Given the description of an element on the screen output the (x, y) to click on. 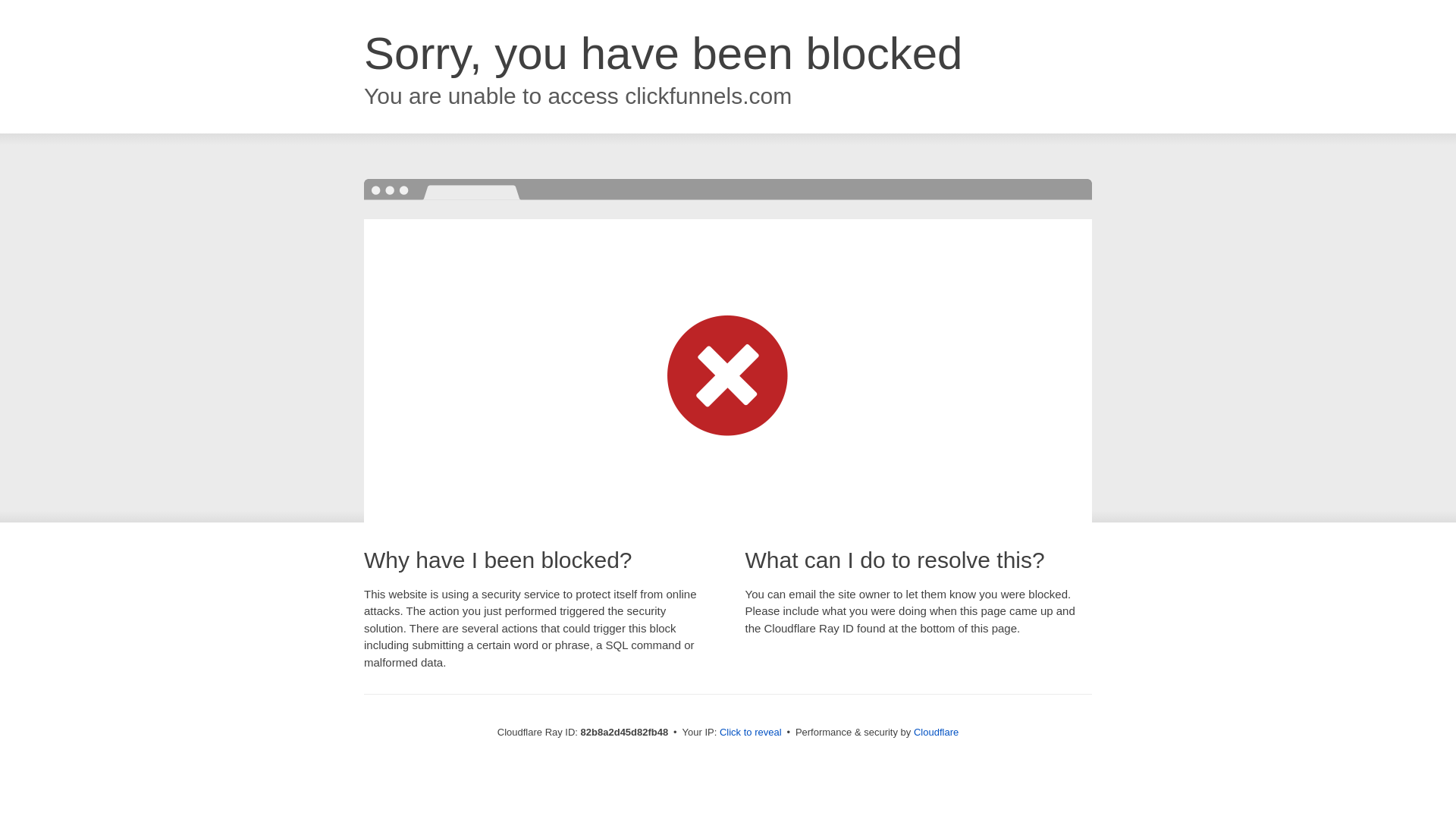
Click to reveal Element type: text (750, 732)
Cloudflare Element type: text (935, 731)
